Given the description of an element on the screen output the (x, y) to click on. 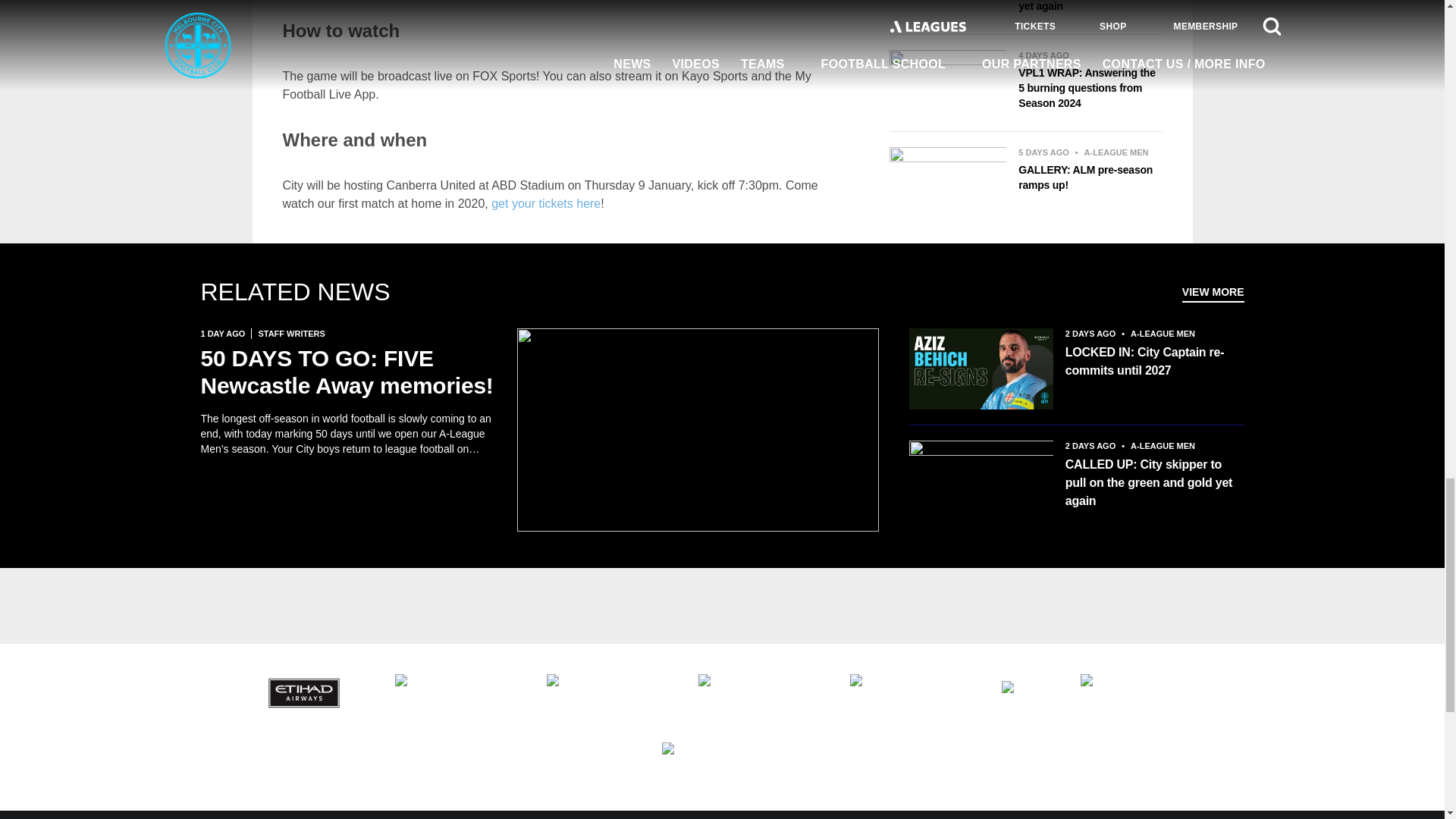
Nissan (909, 692)
Origin (1140, 692)
Asahi Super Dry (454, 692)
Etihad Airways (303, 692)
Hostplus (606, 692)
PUMA (722, 761)
Nostra (1025, 692)
